Given the description of an element on the screen output the (x, y) to click on. 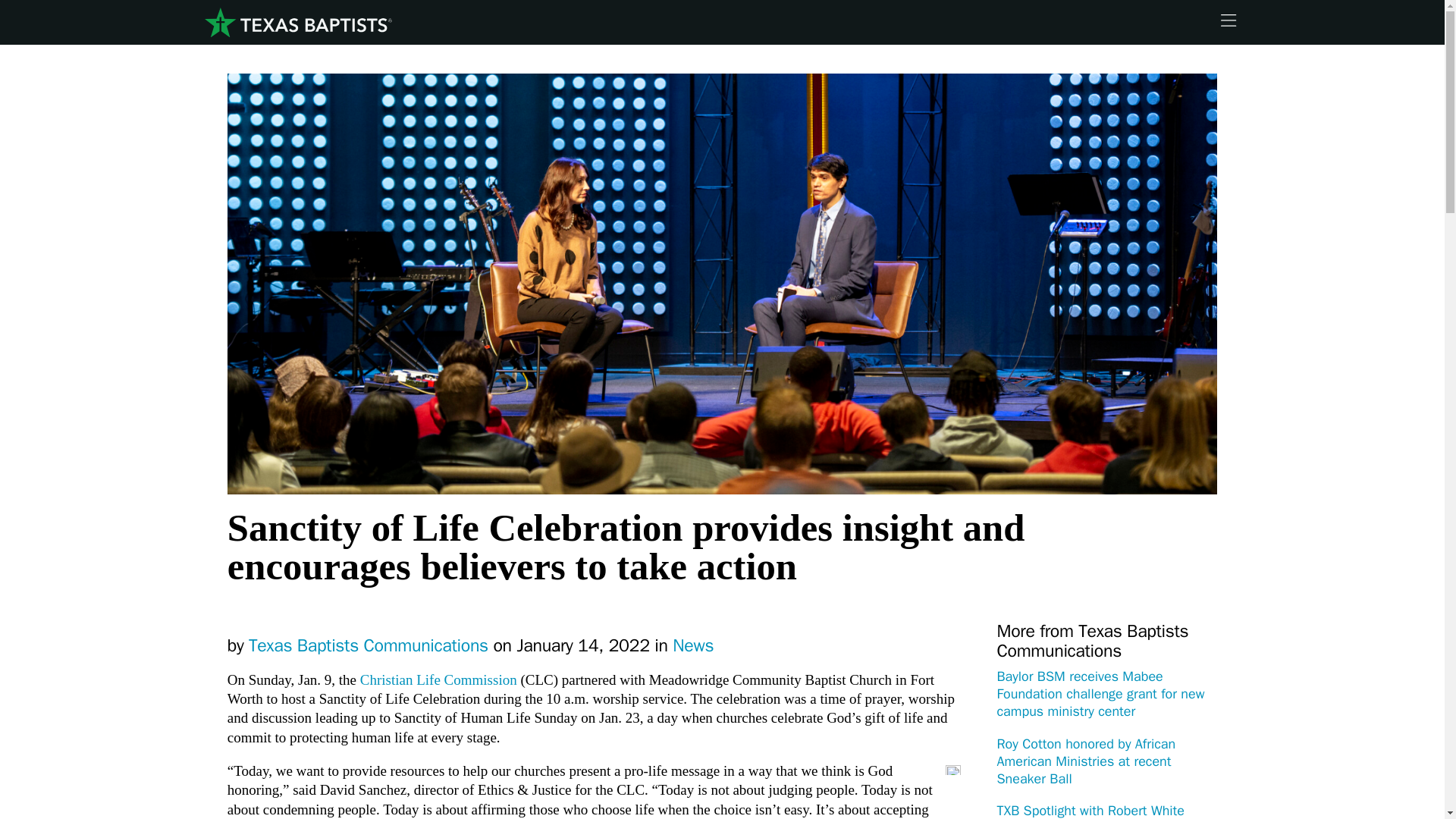
News (692, 645)
TXB Spotlight with Robert White (1090, 810)
Home (297, 22)
Christian Life Commission (437, 679)
Texas Baptists Communications (367, 645)
